Given the description of an element on the screen output the (x, y) to click on. 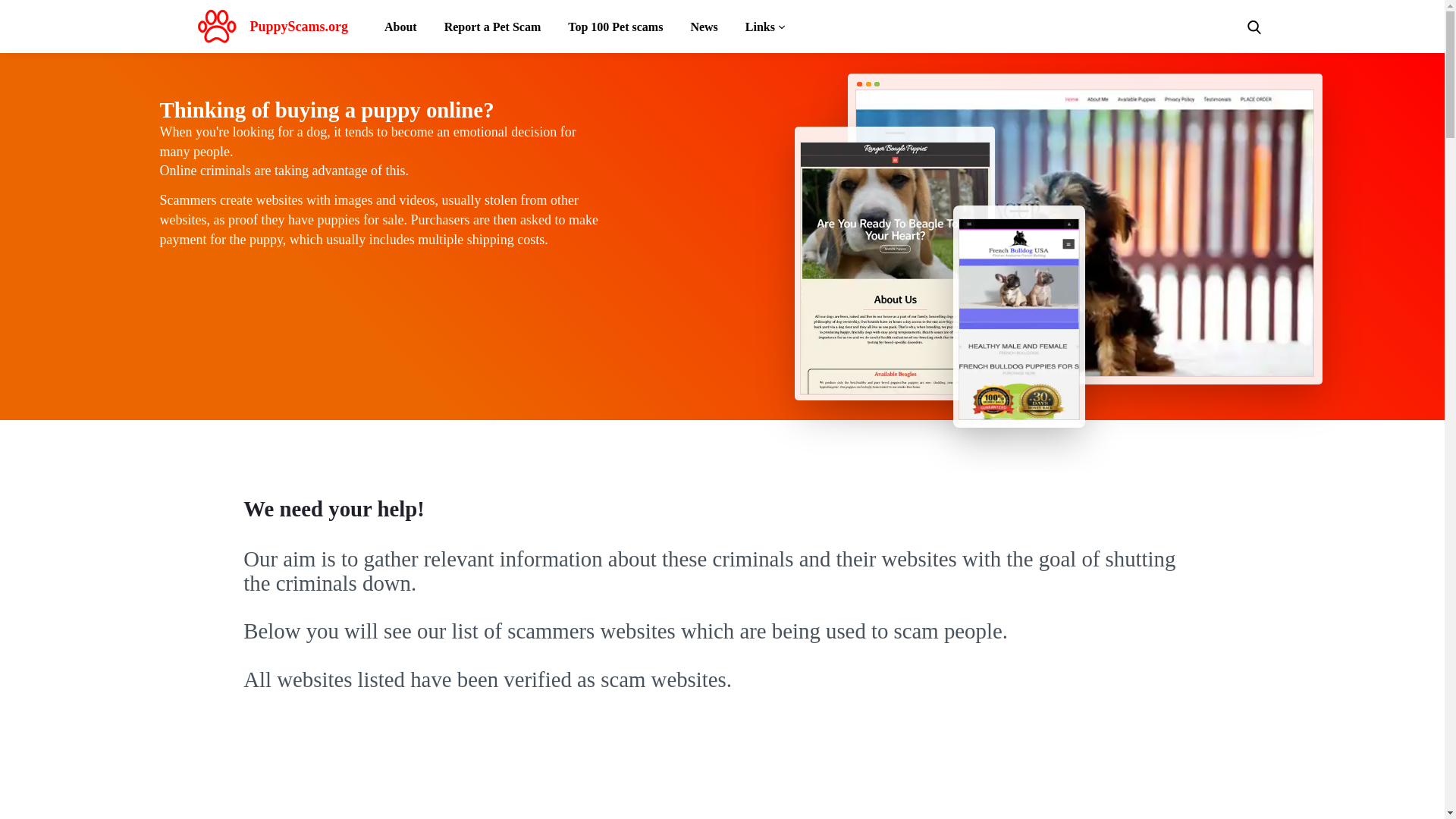
PuppyScams.org (268, 30)
Report a Pet Scam (492, 31)
3rd party ad content (721, 778)
News (703, 31)
Links (764, 31)
Top 100 Pet scams (614, 31)
About (400, 31)
